Given the description of an element on the screen output the (x, y) to click on. 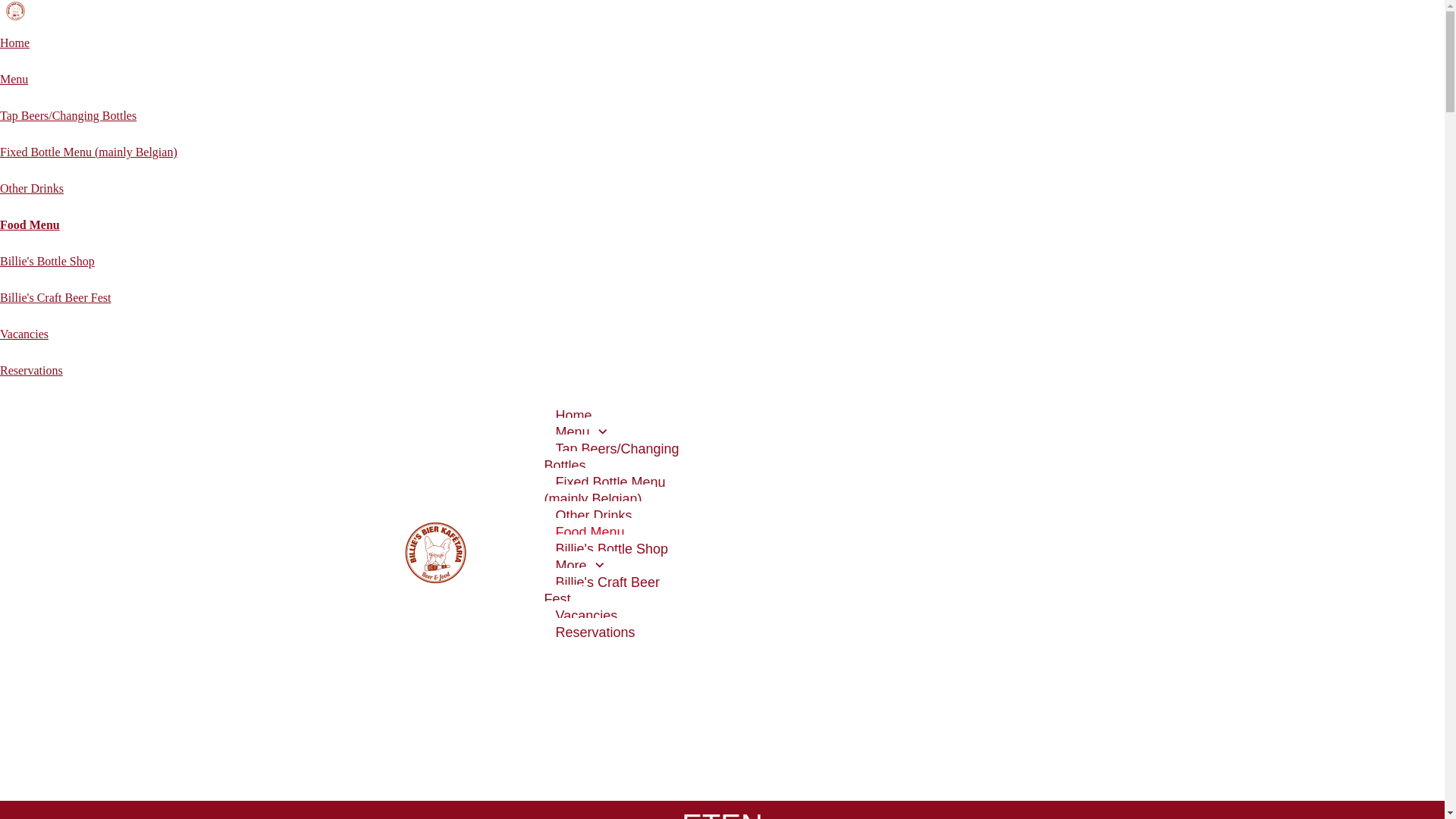
Food Menu Element type: text (590, 532)
Fixed Bottle Menu (mainly Belgian) Element type: text (88, 151)
Tap Beers/Changing Bottles Element type: text (68, 115)
Menu Element type: text (583, 432)
Other Drinks Element type: text (593, 516)
Fixed Bottle Menu (mainly Belgian) Element type: text (604, 490)
Other Drinks Element type: text (31, 188)
Menu Element type: text (14, 78)
Vacancies Element type: text (586, 616)
Billie's Bottle Shop Element type: text (612, 549)
Vacancies Element type: text (24, 333)
More Element type: text (581, 566)
Reservations Element type: text (595, 633)
Home Element type: text (573, 416)
Billie's Craft Beer Fest Element type: text (55, 297)
Reservations Element type: text (31, 370)
Food Menu Element type: text (29, 224)
Billie's Bottle Shop Element type: text (47, 260)
Home Element type: text (14, 42)
Tap Beers/Changing Bottles Element type: text (611, 457)
Billie's Craft Beer Fest Element type: text (601, 591)
